Given the description of an element on the screen output the (x, y) to click on. 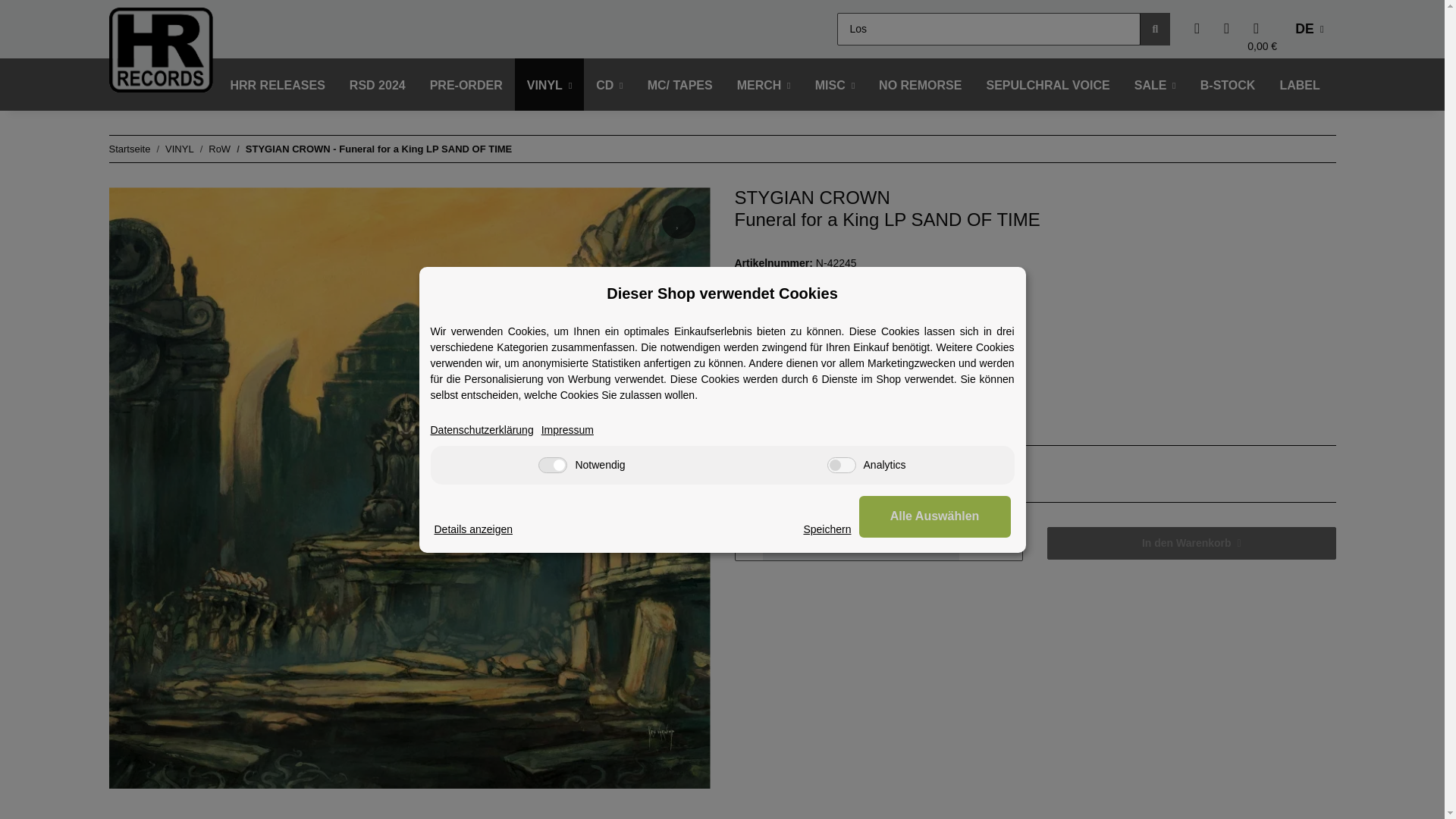
HRR RELEASES (277, 85)
CD (608, 85)
VINYL (550, 85)
on (841, 464)
RSD 2024 (377, 85)
LABEL (1299, 85)
HRR RELEASES (277, 85)
High Roller Records - OnlineShop (160, 49)
MERCH (764, 85)
on (552, 464)
SEPULCHRAL VOICE (1047, 85)
HRR RELEASES (277, 85)
NO REMORSE (920, 85)
MISC (834, 85)
B-STOCK (1228, 85)
